Given the description of an element on the screen output the (x, y) to click on. 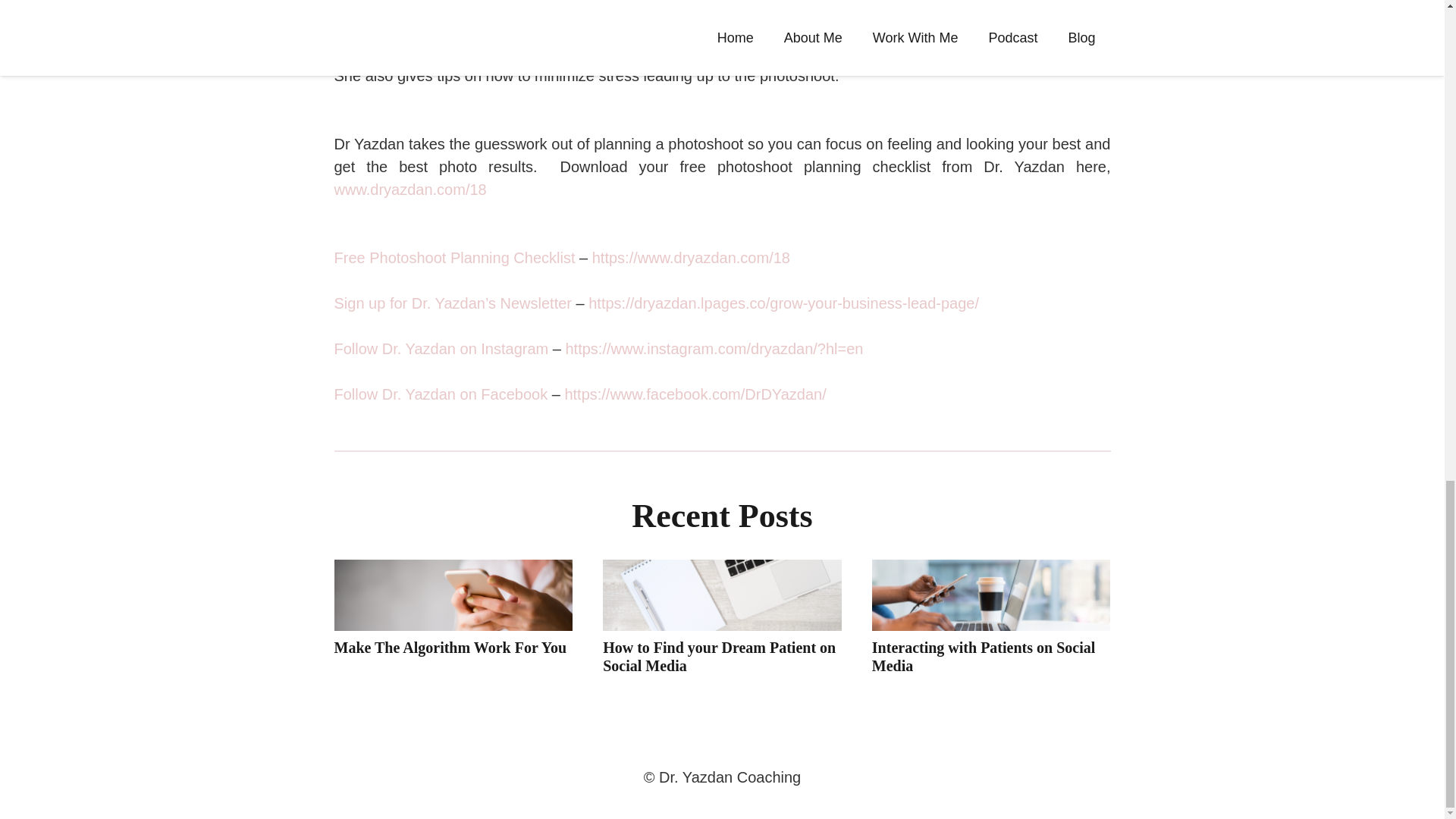
Follow Dr. Yazdan on Facebook (440, 393)
Follow Dr. Yazdan on Instagram (440, 348)
Interacting with Patients on Social Media (983, 656)
How to Find your Dream Patient on Social Media (718, 656)
Make The Algorithm Work For You (449, 647)
Free Photoshoot Planning Checklist (454, 257)
